Given the description of an element on the screen output the (x, y) to click on. 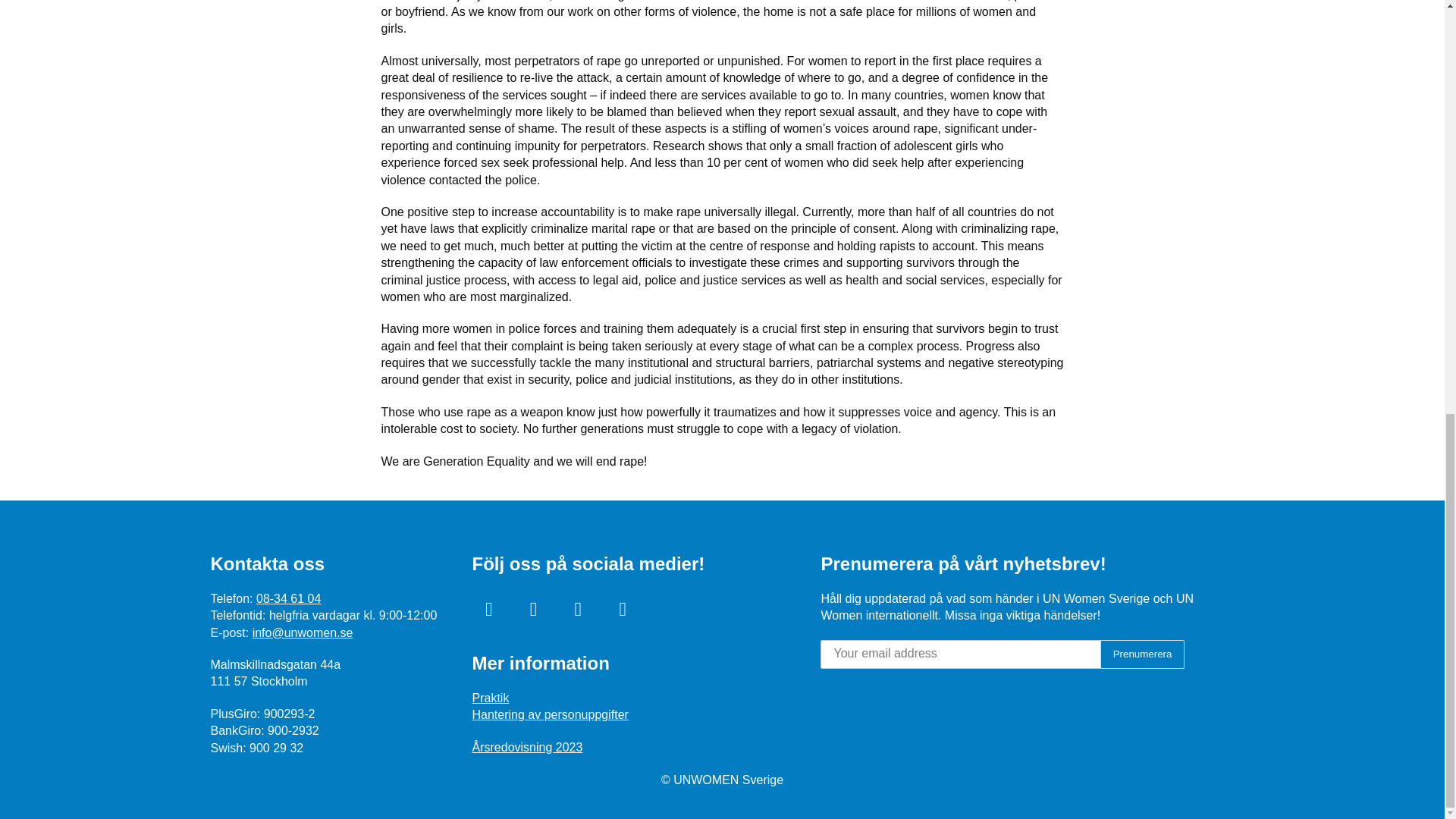
Prenumerera (1142, 654)
Prenumerera (1142, 654)
Praktik (489, 697)
Hantering av personuppgifter (549, 714)
08-34 61 04 (288, 598)
